Given the description of an element on the screen output the (x, y) to click on. 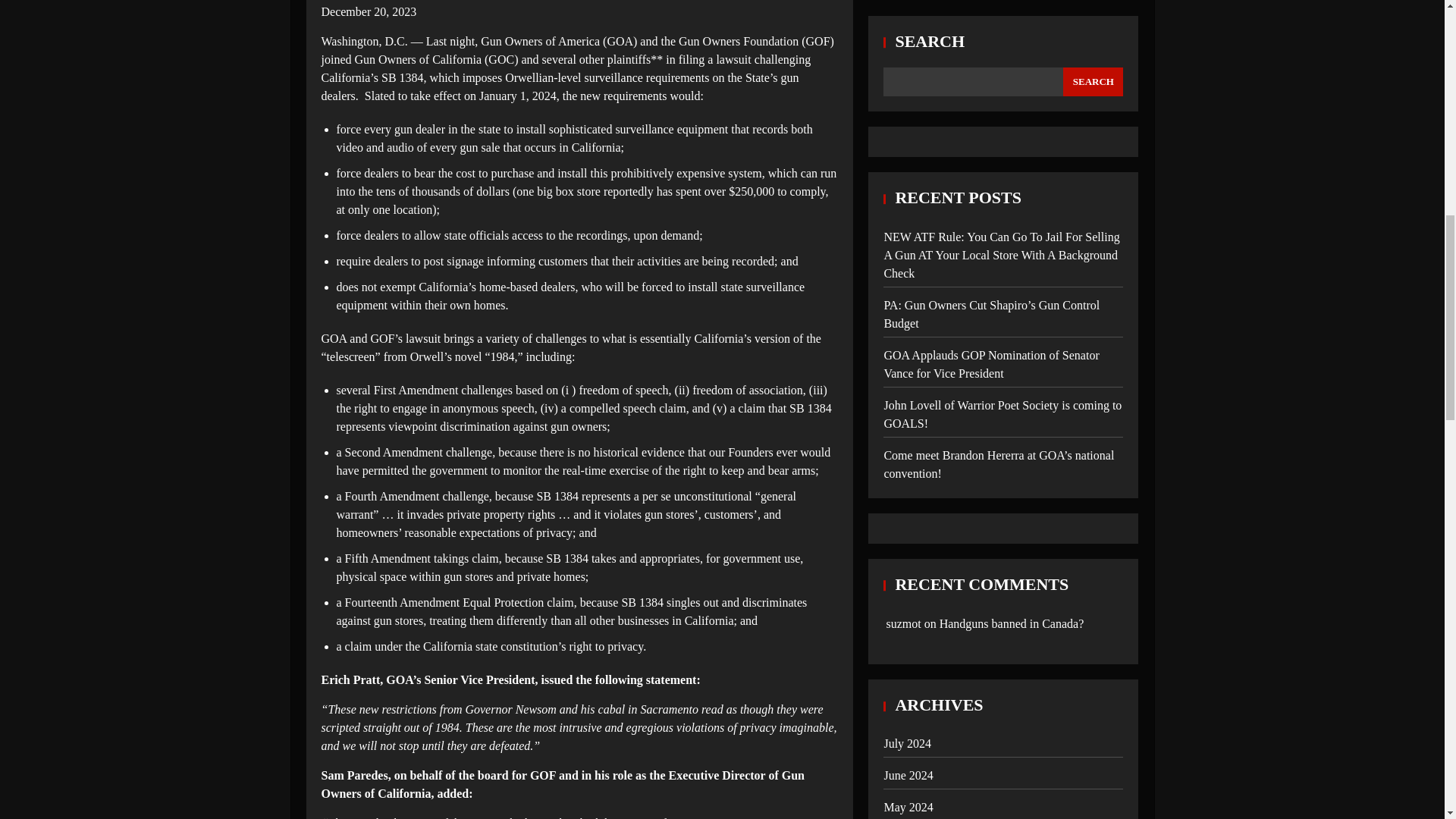
Gun Owners of California (418, 59)
filing a lawsuit (714, 59)
